Given the description of an element on the screen output the (x, y) to click on. 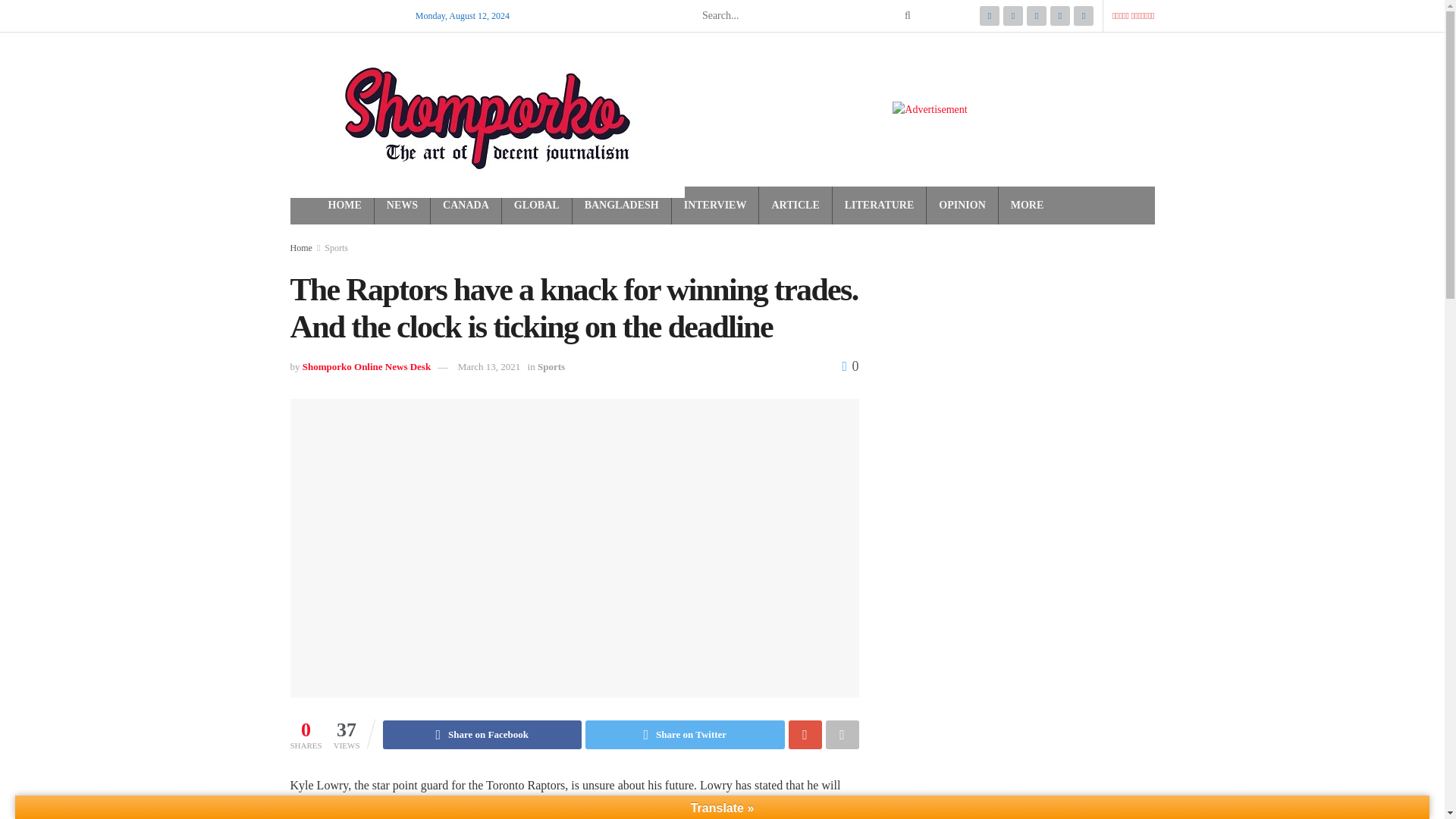
INTERVIEW (715, 205)
MORE (1026, 205)
GLOBAL (536, 205)
OPINION (962, 205)
LITERATURE (879, 205)
BANGLADESH (622, 205)
ARTICLE (794, 205)
NEWS (402, 205)
CANADA (465, 205)
HOME (344, 205)
